Given the description of an element on the screen output the (x, y) to click on. 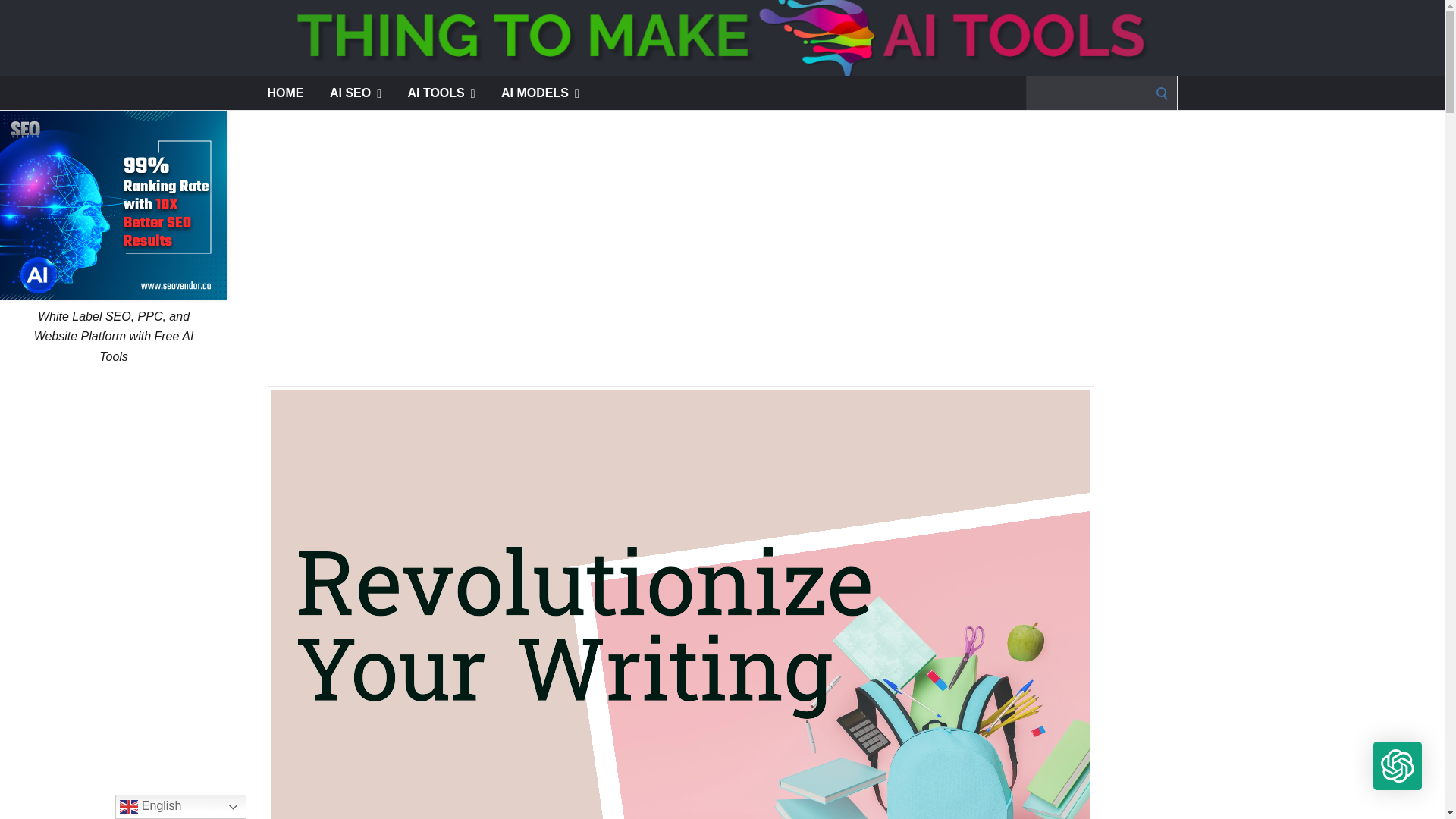
HOME (284, 92)
Search (16, 17)
AI MODELS (539, 92)
AI TOOLS (440, 92)
AI SEO (355, 92)
